Given the description of an element on the screen output the (x, y) to click on. 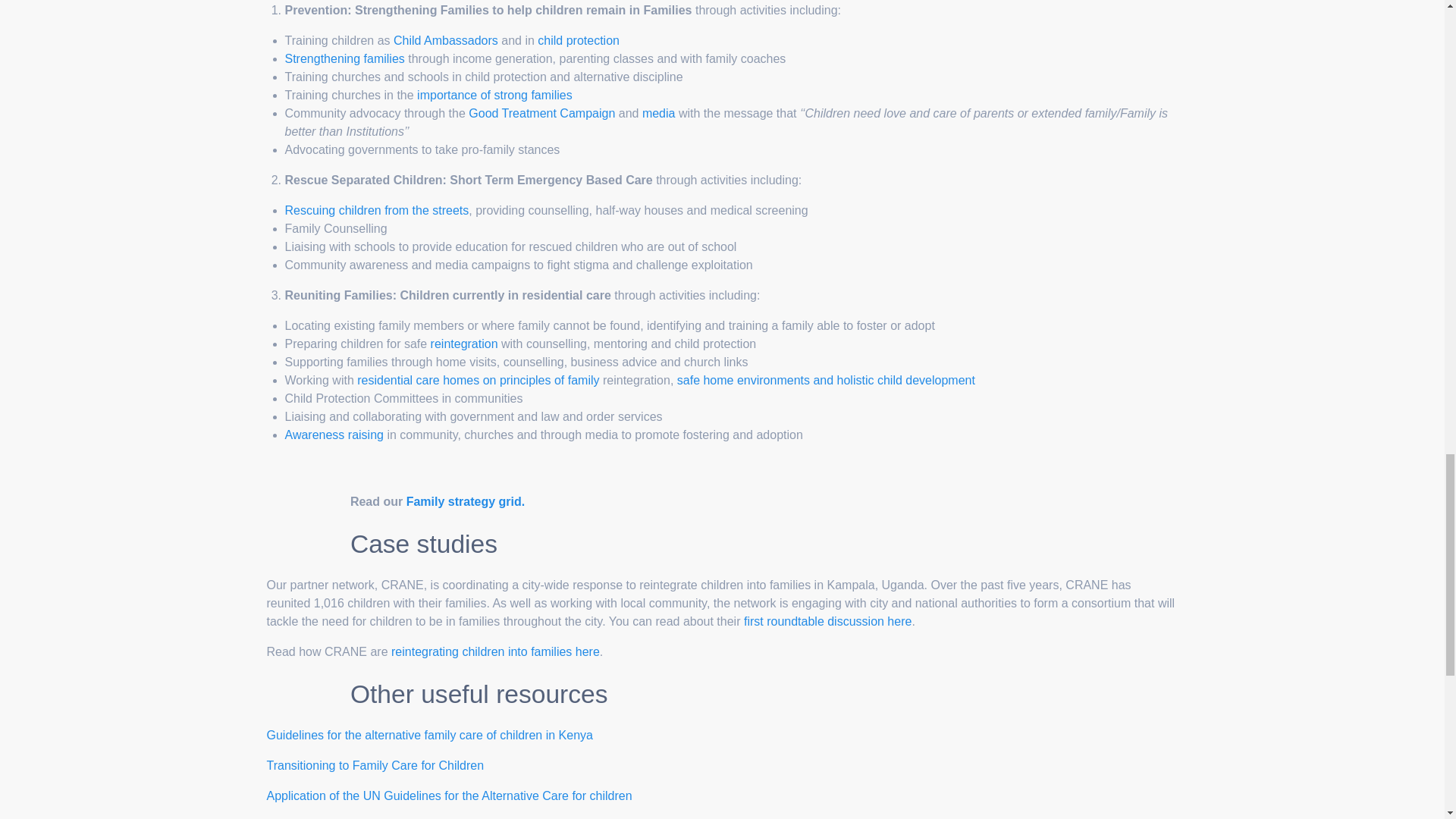
reintegration (463, 343)
safe home environments and holistic child development (826, 379)
Family strategy grid. (465, 501)
child protection (578, 40)
first roundtable discussion here (827, 621)
media (658, 113)
Rescuing children from the streets (376, 210)
importance of strong families (494, 94)
Good Treatment Campaign (541, 113)
residential care homes on principles of family (477, 379)
Strengthening families (344, 58)
Awareness raising (334, 434)
Child Ambassadors (445, 40)
